Given the description of an element on the screen output the (x, y) to click on. 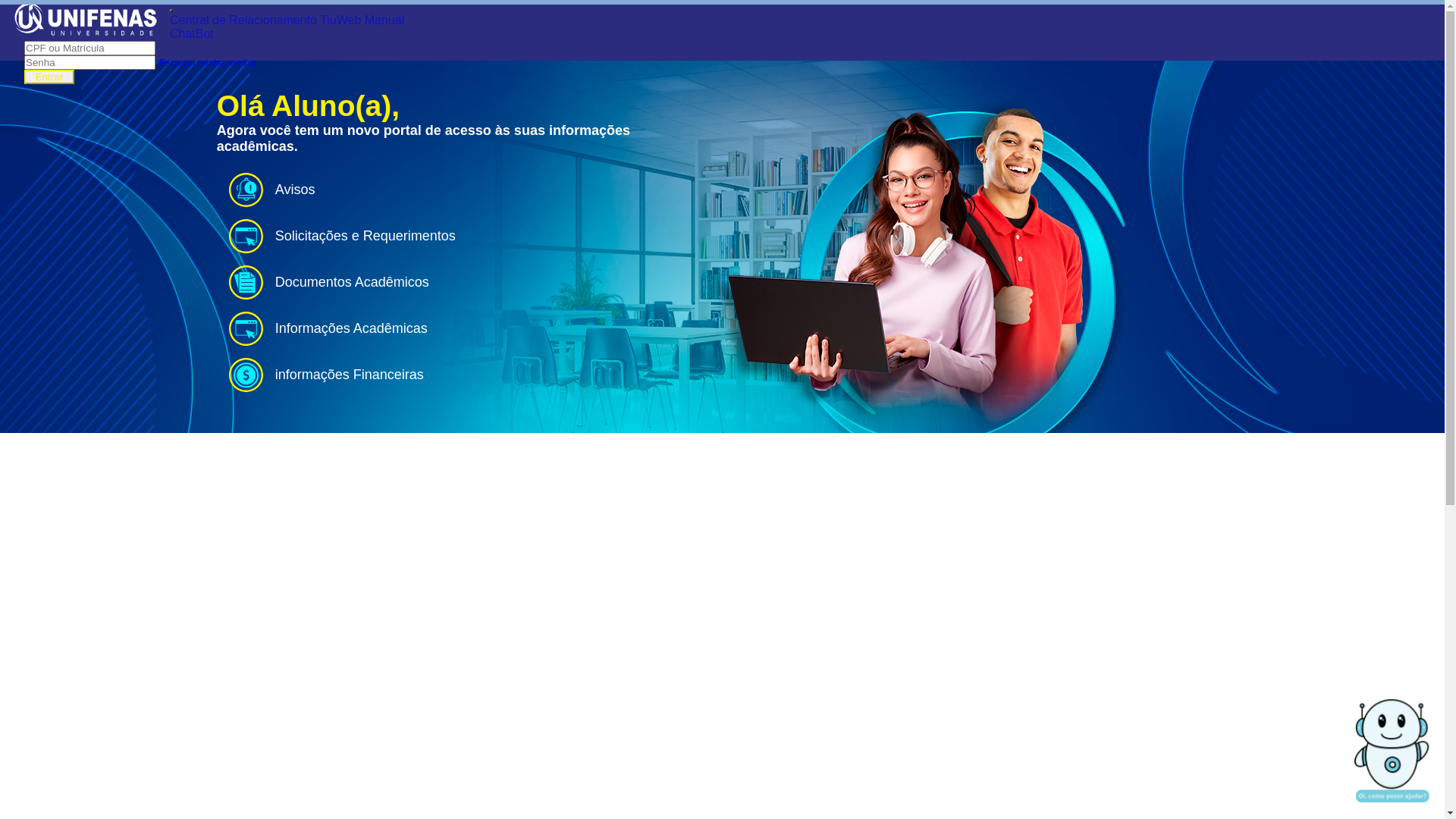
Manual ChatBot Element type: text (286, 26)
Avisos Element type: text (456, 189)
Entrar Element type: text (49, 76)
Central de Relacionamento Element type: text (242, 19)
TiuWeb Element type: text (340, 19)
CPA UNIFENAS Element type: hover (722, 639)
Esqueci minha senha Element type: text (206, 61)
